Given the description of an element on the screen output the (x, y) to click on. 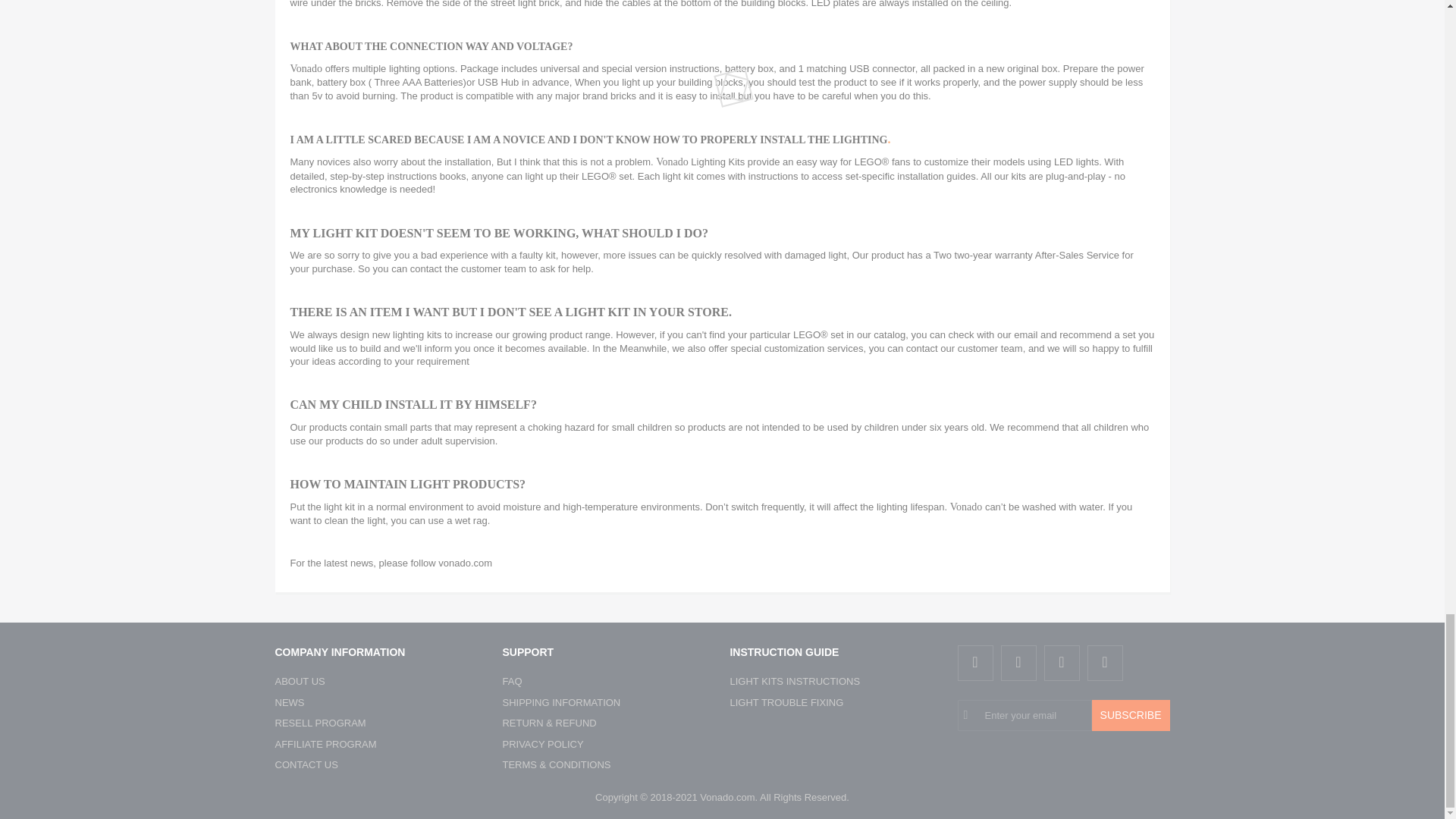
Subscribe (1131, 715)
